Given the description of an element on the screen output the (x, y) to click on. 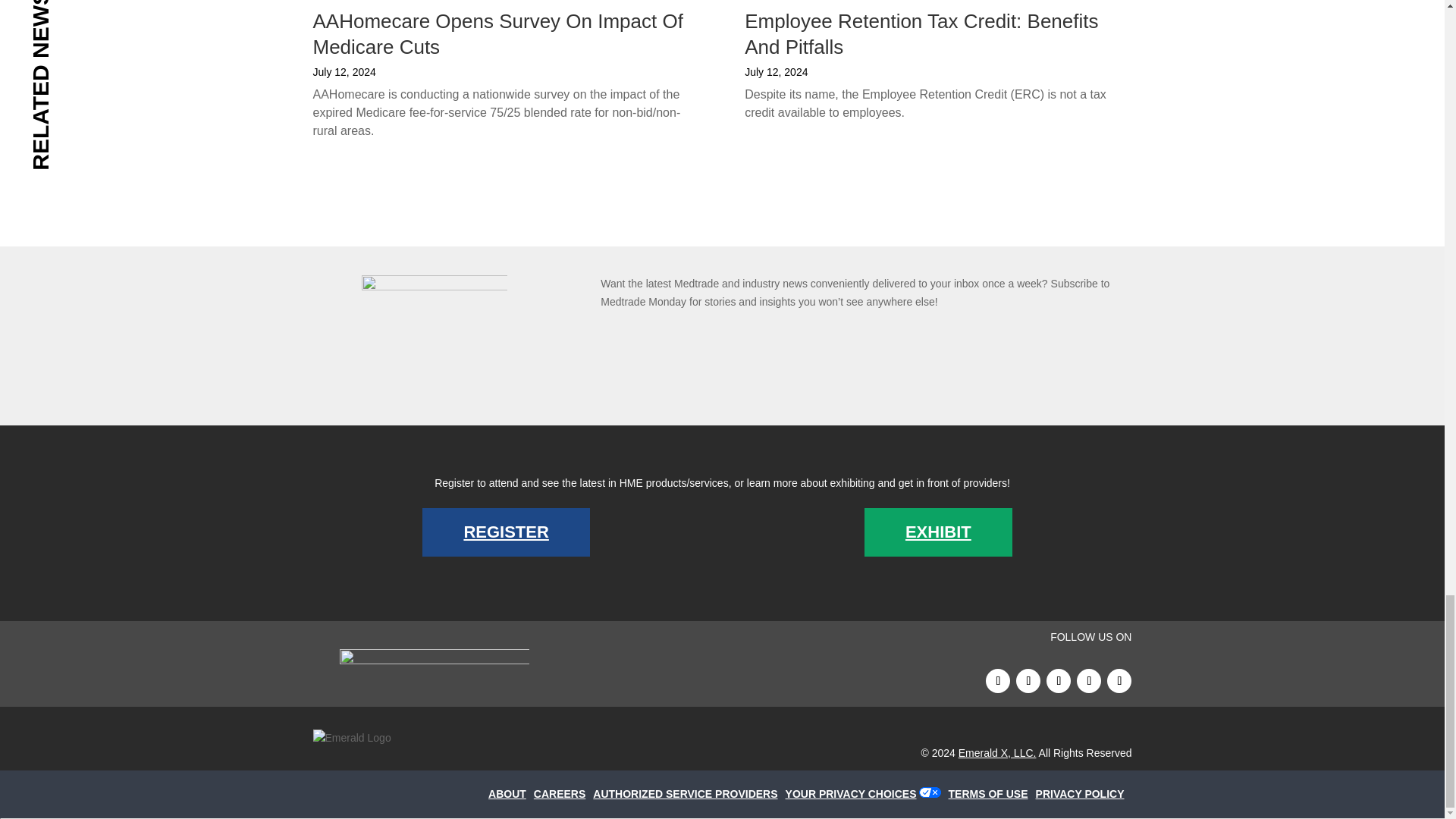
privacy-policy (1083, 793)
careers (563, 793)
authorized-service-providers (688, 793)
MTM Subscribe Image (433, 335)
Follow on Youtube (1088, 680)
Follow on Facebook (997, 680)
Follow on LinkedIn (1028, 680)
your-privacy-choices (855, 793)
terms-of-use (992, 793)
Follow on Instagram (1118, 680)
Follow on X (1058, 680)
about (510, 793)
